Given the description of an element on the screen output the (x, y) to click on. 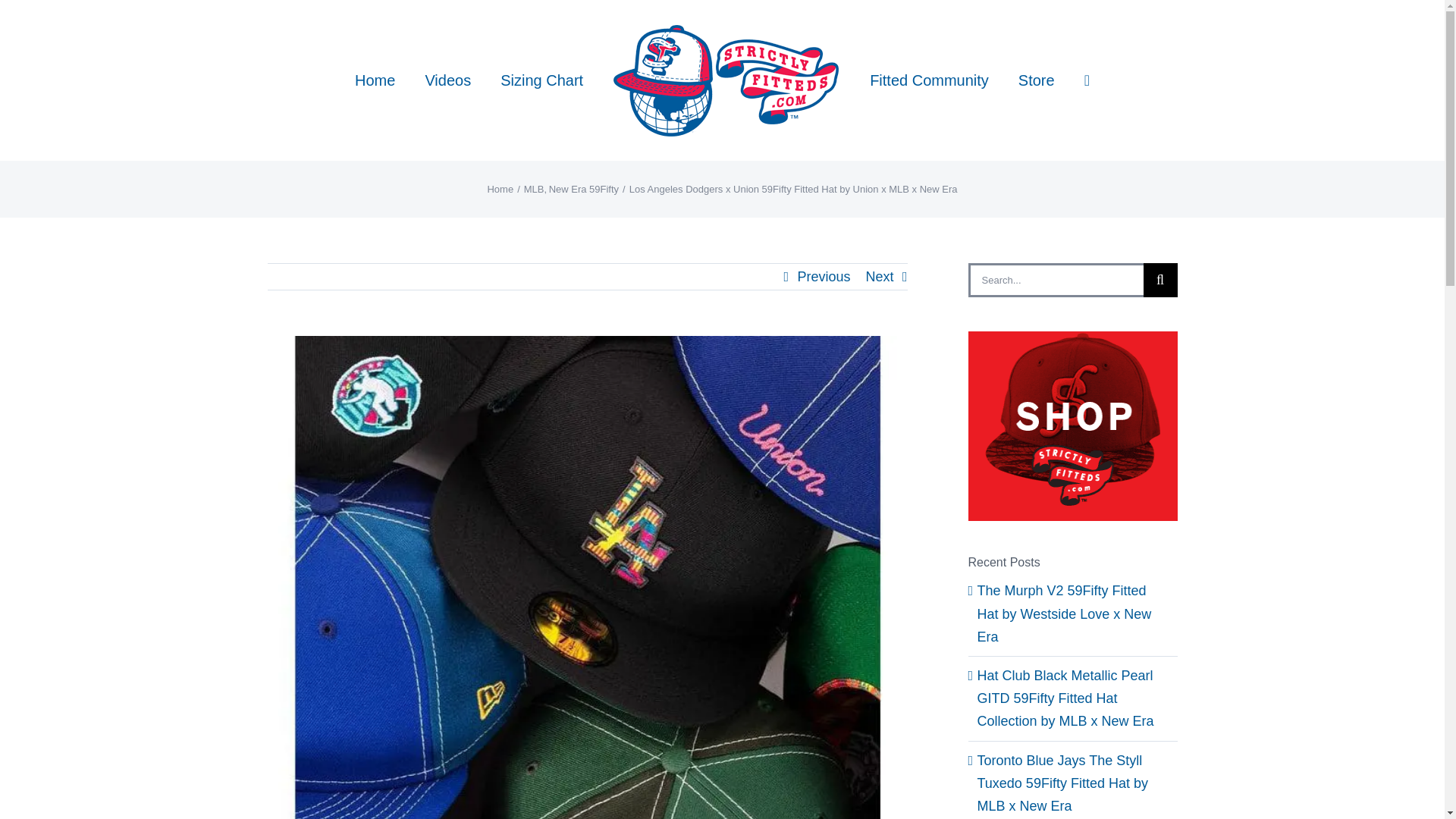
New Era 59Fifty (583, 188)
Fitted Community (928, 79)
Fitted Hat Videos (447, 79)
Home (374, 79)
Fitted Baseball Cap Sizing Chart (541, 79)
Fitted Community Resources (928, 79)
Next (878, 276)
Store (1035, 79)
Fitteds Hats Home (374, 79)
Strictly Fitteds Store (1035, 79)
Sizing Chart (541, 79)
Previous (823, 276)
MLB (534, 188)
Home (499, 188)
